Given the description of an element on the screen output the (x, y) to click on. 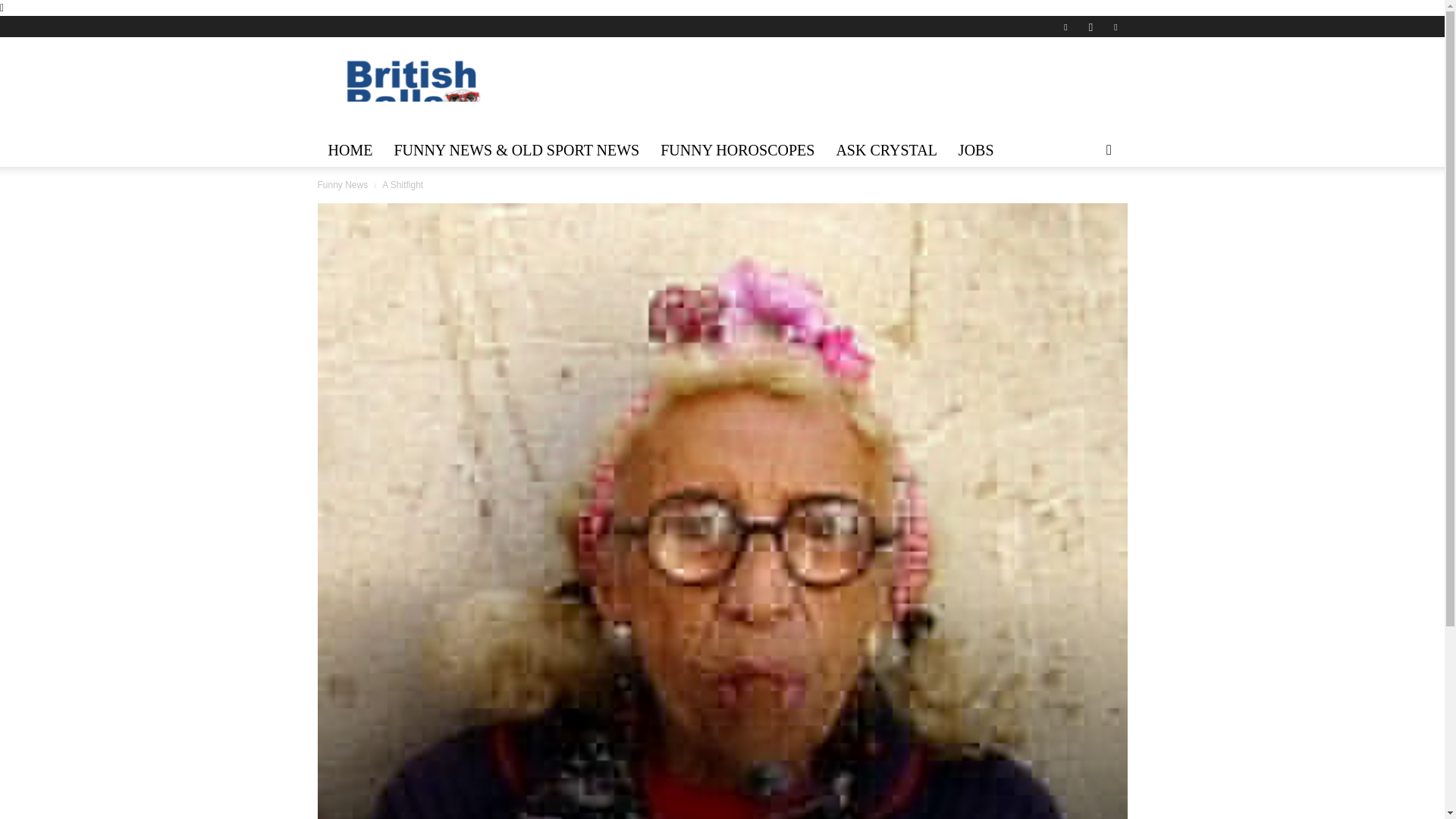
Funny News (342, 184)
Twitter (1114, 25)
ASK CRYSTAL (886, 150)
Instagram (1090, 25)
JOBS (975, 150)
Search (1085, 209)
FUNNY HOROSCOPES (737, 150)
HOME (349, 150)
View all posts in Funny News (342, 184)
Facebook (1065, 25)
